Given the description of an element on the screen output the (x, y) to click on. 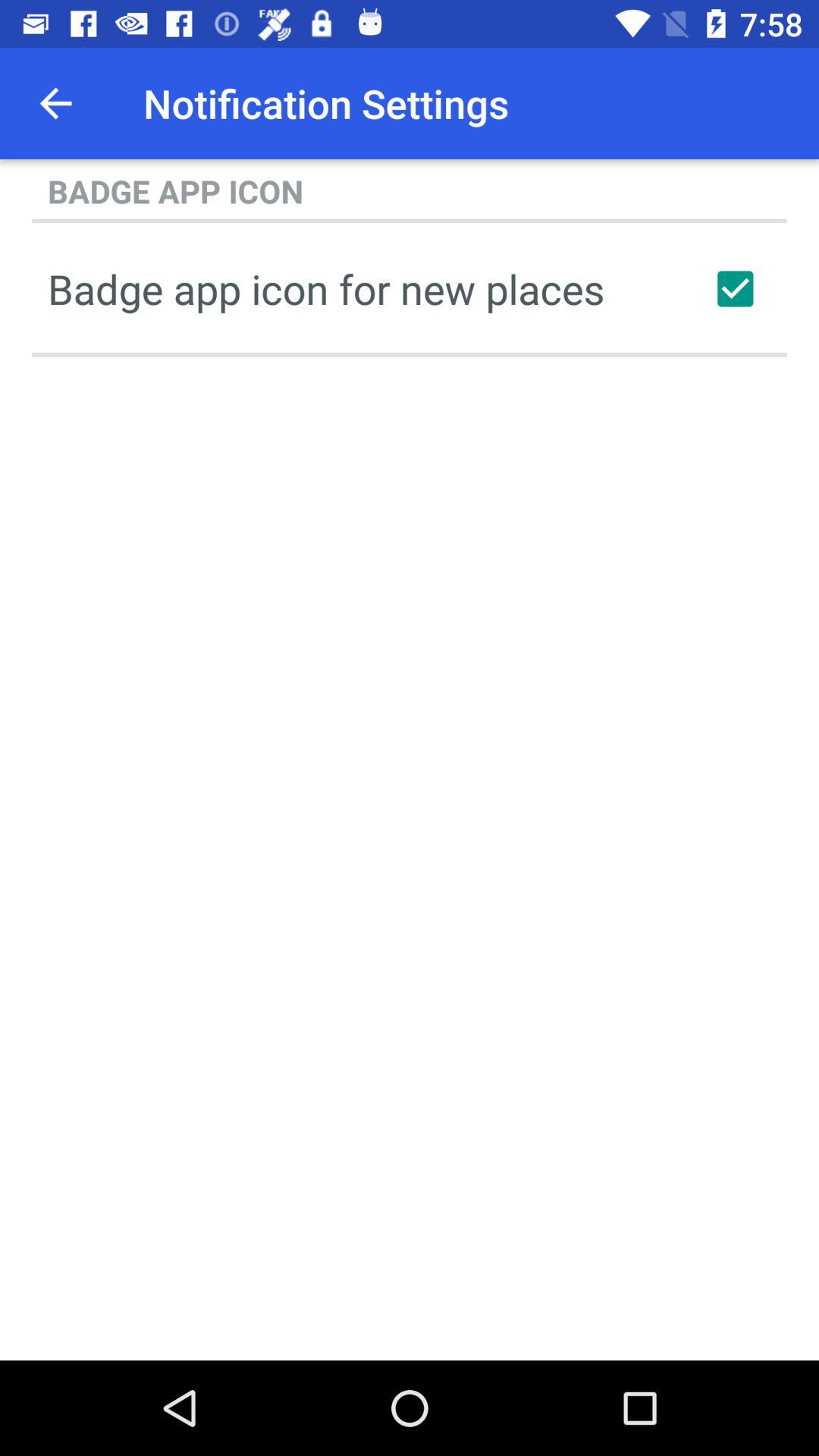
open app to the left of the notification settings item (55, 103)
